Given the description of an element on the screen output the (x, y) to click on. 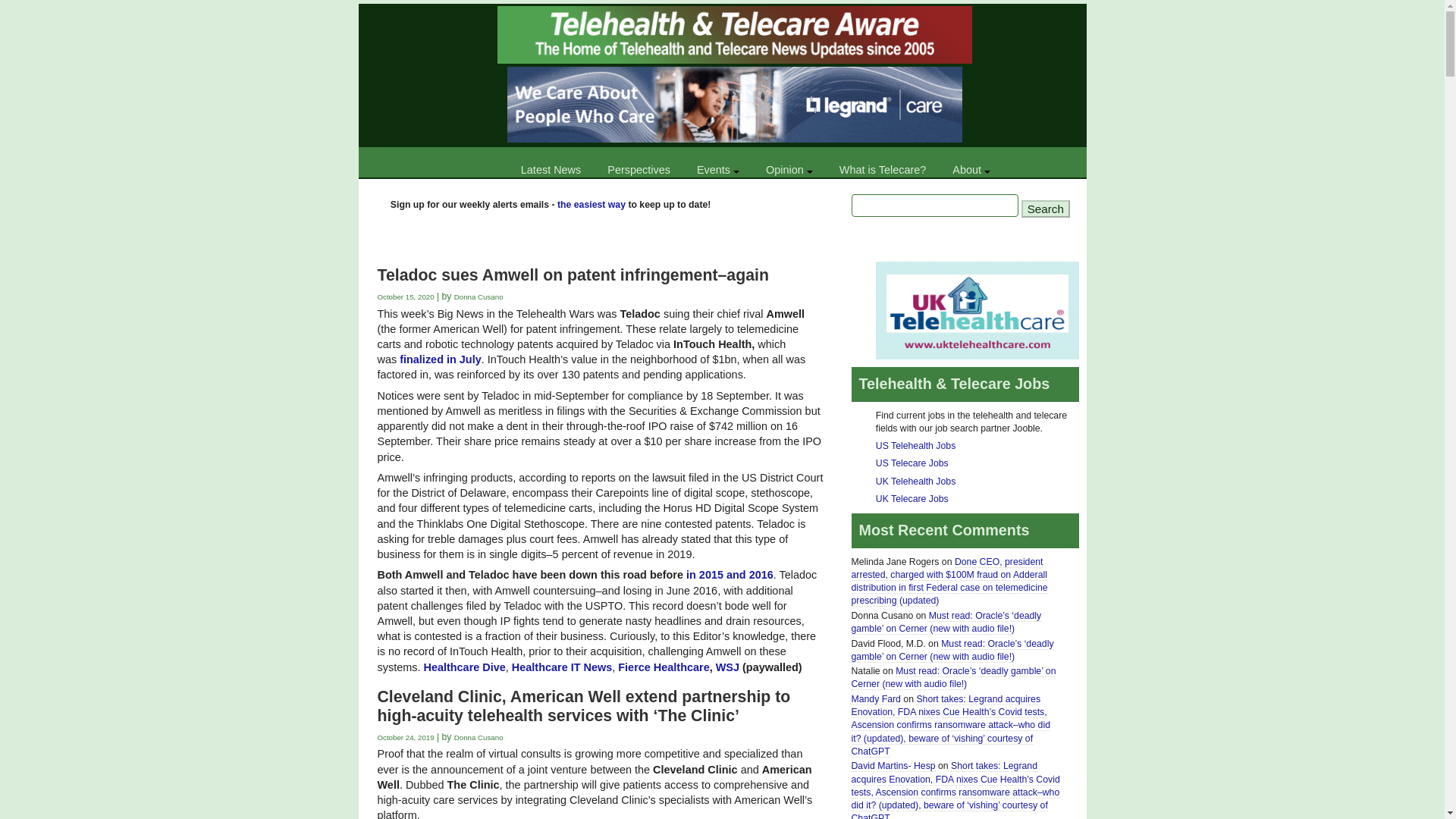
About (970, 169)
the easiest way (591, 204)
Latest News (550, 169)
Search (1046, 208)
Perspectives (638, 169)
Events (717, 169)
Opinion (789, 169)
What is Telecare? (882, 169)
Search (1046, 208)
